Given the description of an element on the screen output the (x, y) to click on. 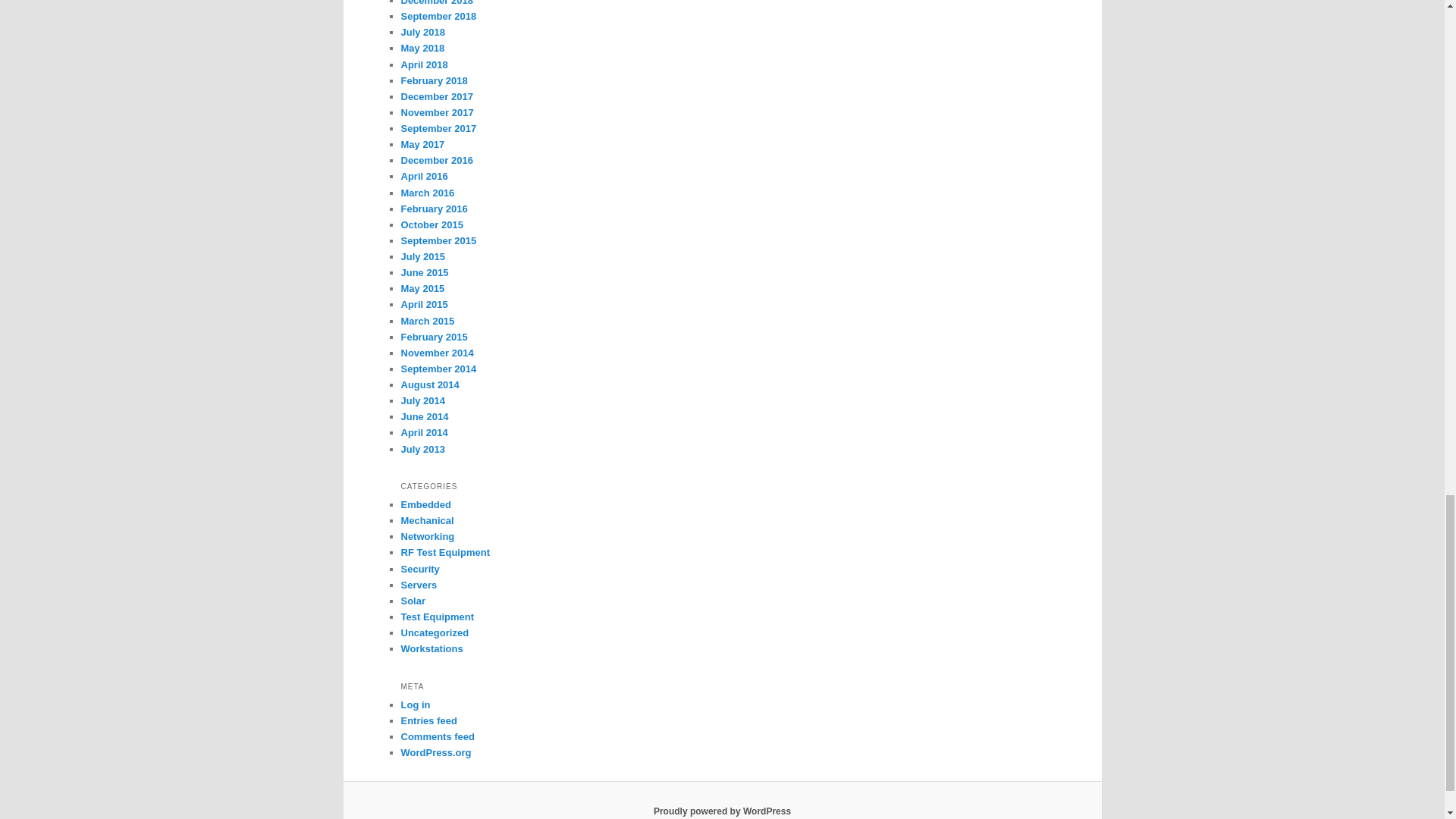
Semantic Personal Publishing Platform (721, 810)
